Given the description of an element on the screen output the (x, y) to click on. 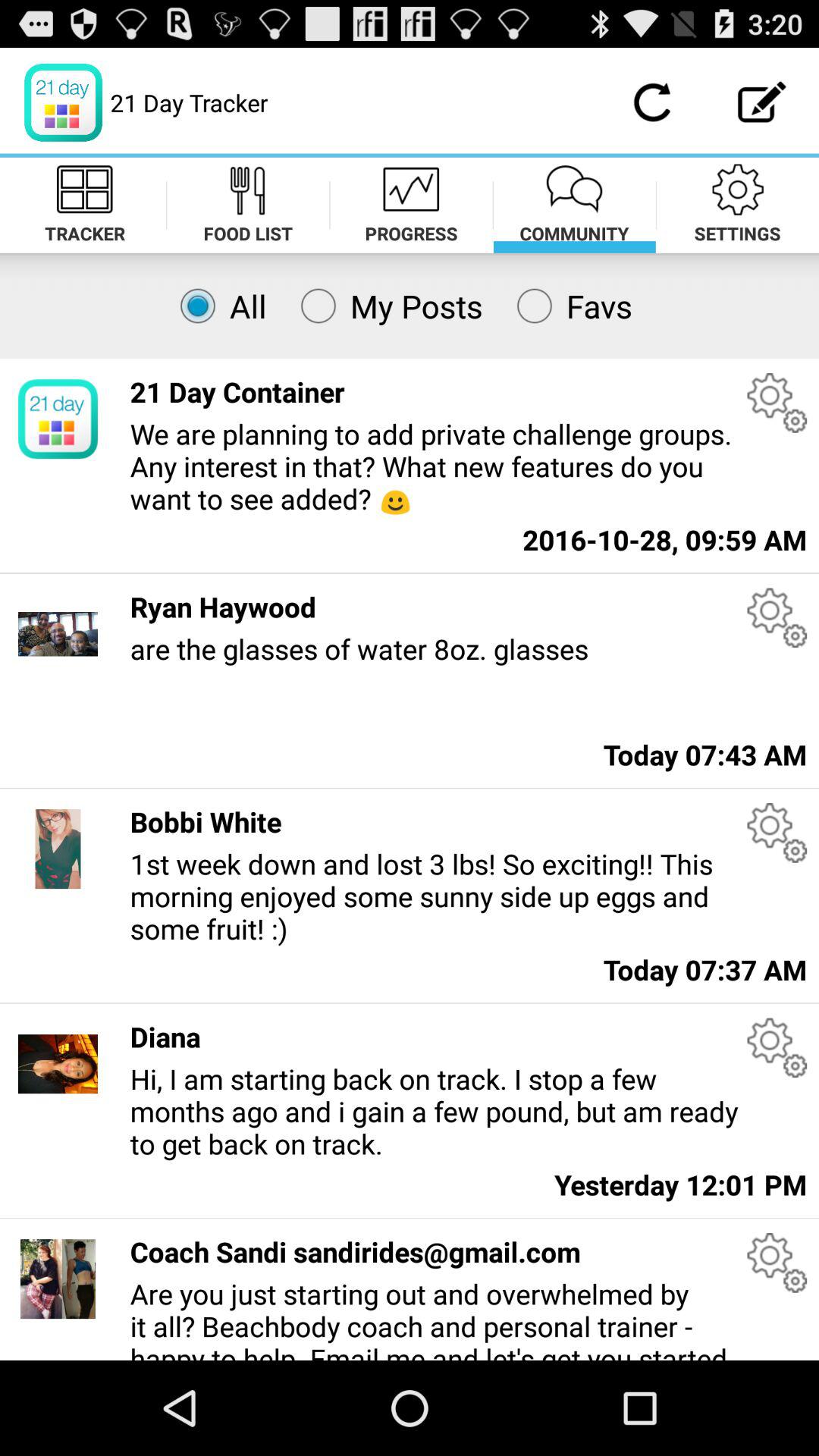
open settings for the post (777, 617)
